Given the description of an element on the screen output the (x, y) to click on. 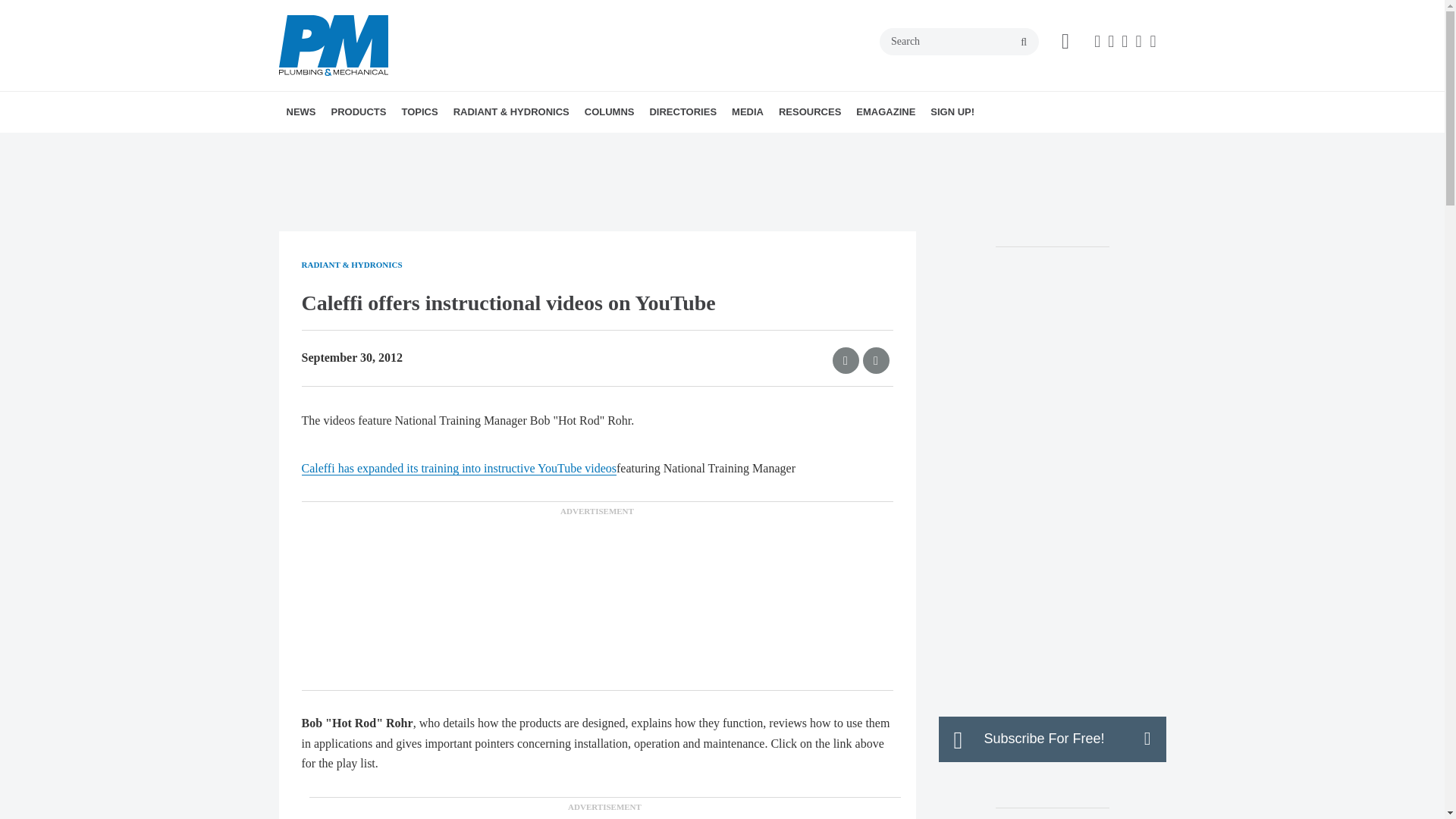
CODES (501, 145)
JOHN SIEGENTHALER (683, 145)
RADIANT COMFORT REPORT (539, 145)
WATER TREATMENT (522, 145)
GREEN PLUMBING (507, 145)
HIGH EFFICIENCY HOMES (512, 145)
COLUMNS (609, 111)
PROJECT PROFILES (525, 145)
Search (959, 41)
CODES CORNER (671, 145)
